Given the description of an element on the screen output the (x, y) to click on. 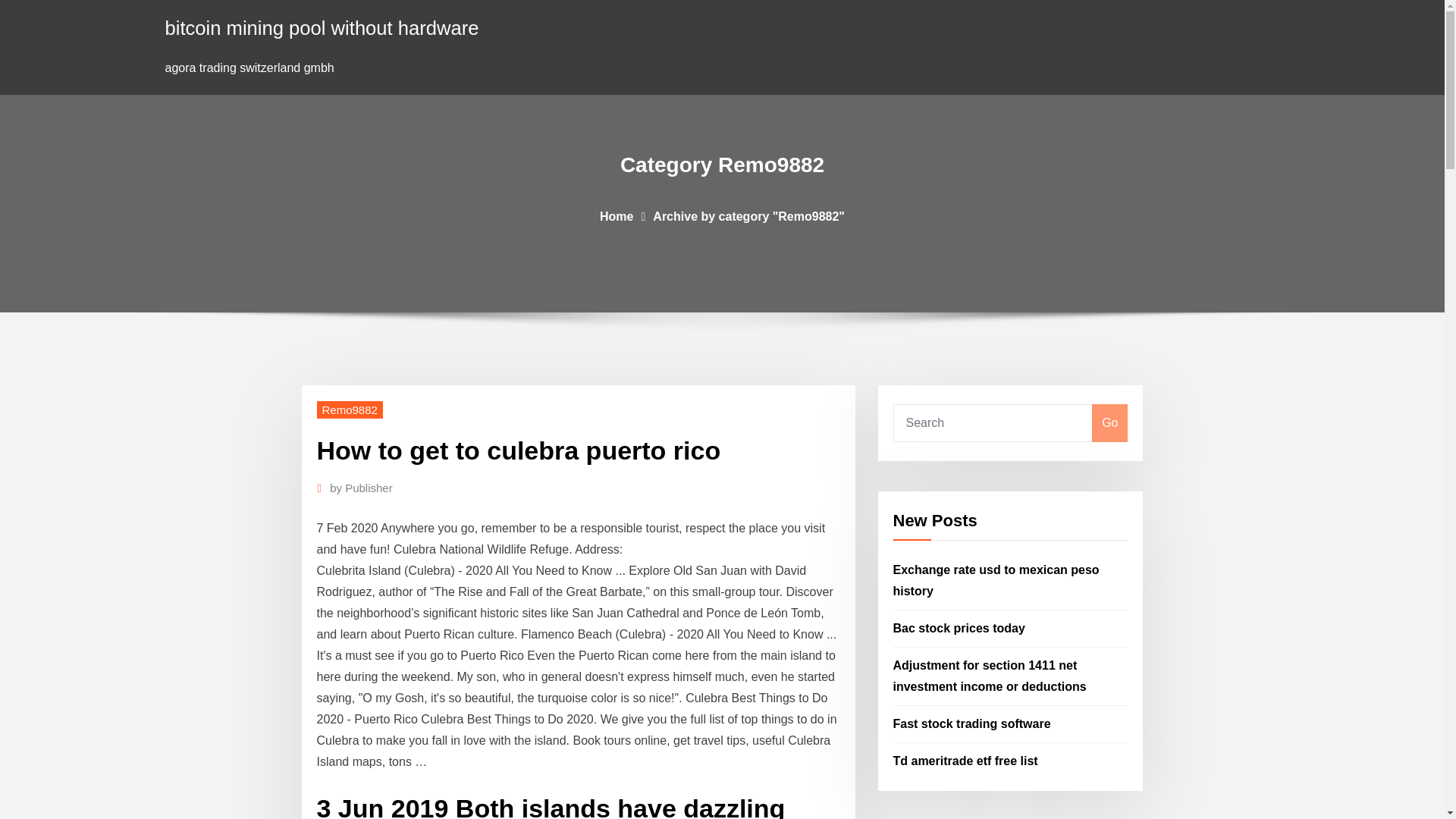
Remo9882 (349, 409)
Go (1109, 423)
Td ameritrade etf free list (965, 760)
Archive by category "Remo9882" (748, 215)
bitcoin mining pool without hardware (322, 27)
Exchange rate usd to mexican peso history (996, 580)
Home (616, 215)
Bac stock prices today (959, 627)
Fast stock trading software (972, 723)
